Given the description of an element on the screen output the (x, y) to click on. 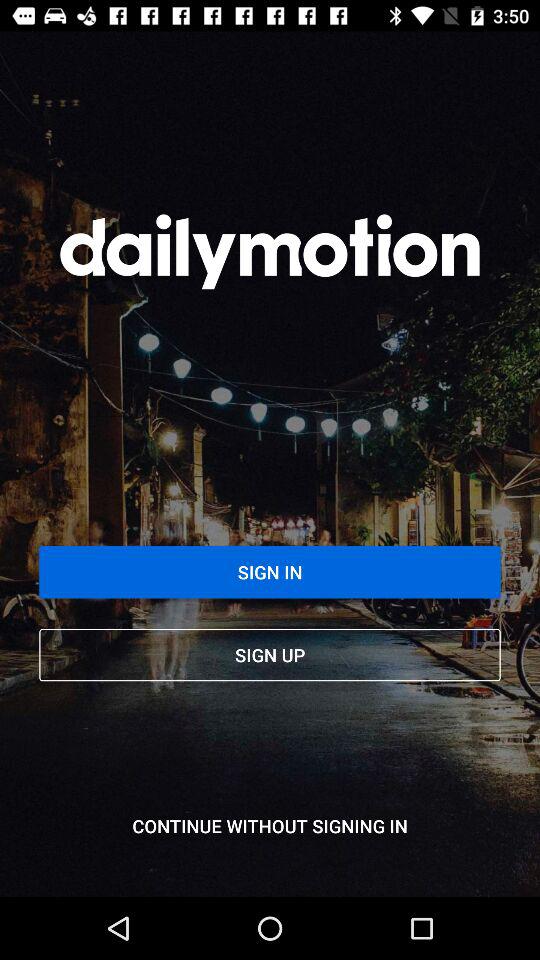
scroll to the sign up item (269, 654)
